Given the description of an element on the screen output the (x, y) to click on. 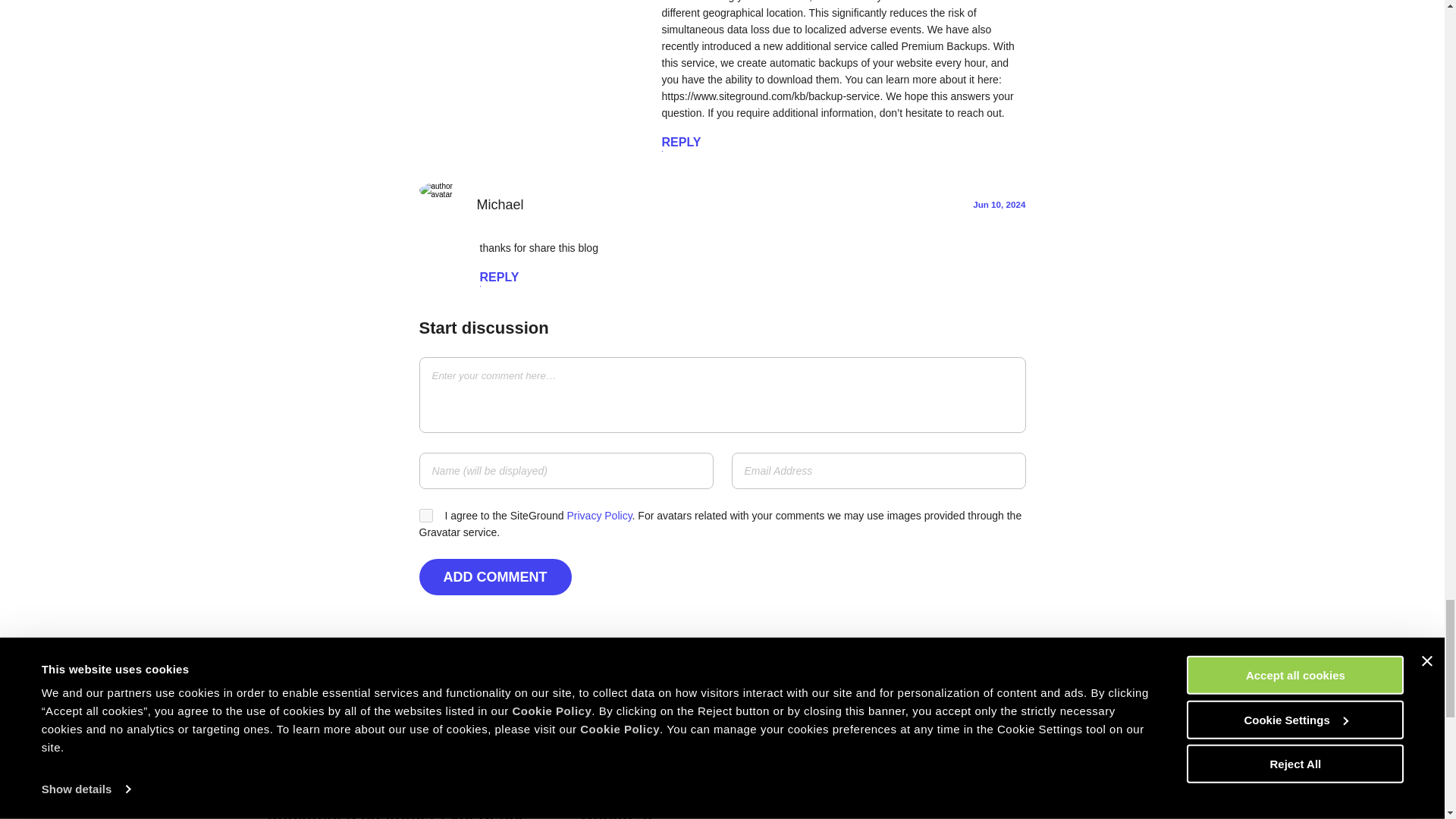
1 (425, 515)
